Given the description of an element on the screen output the (x, y) to click on. 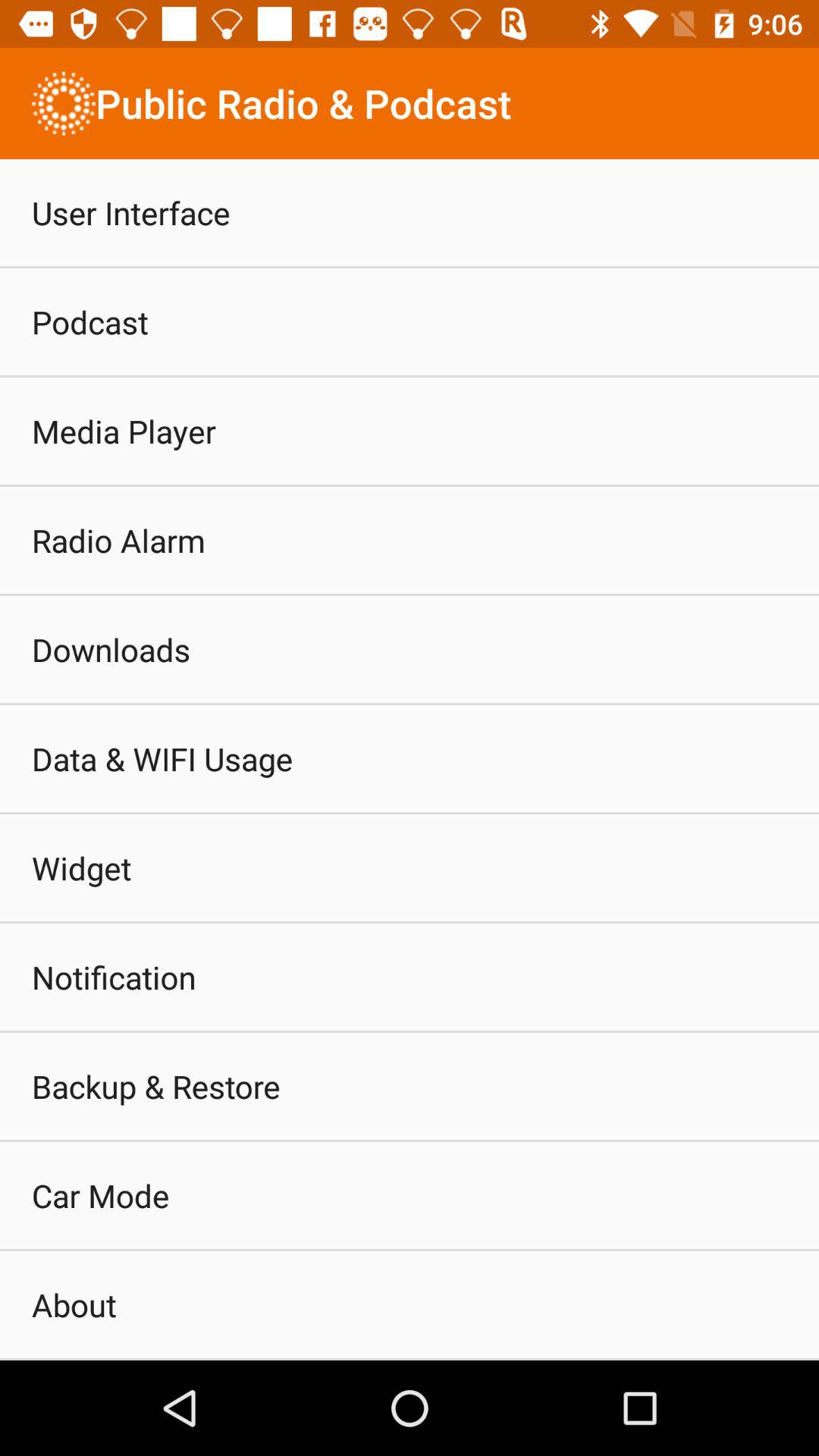
swipe until about icon (73, 1304)
